Given the description of an element on the screen output the (x, y) to click on. 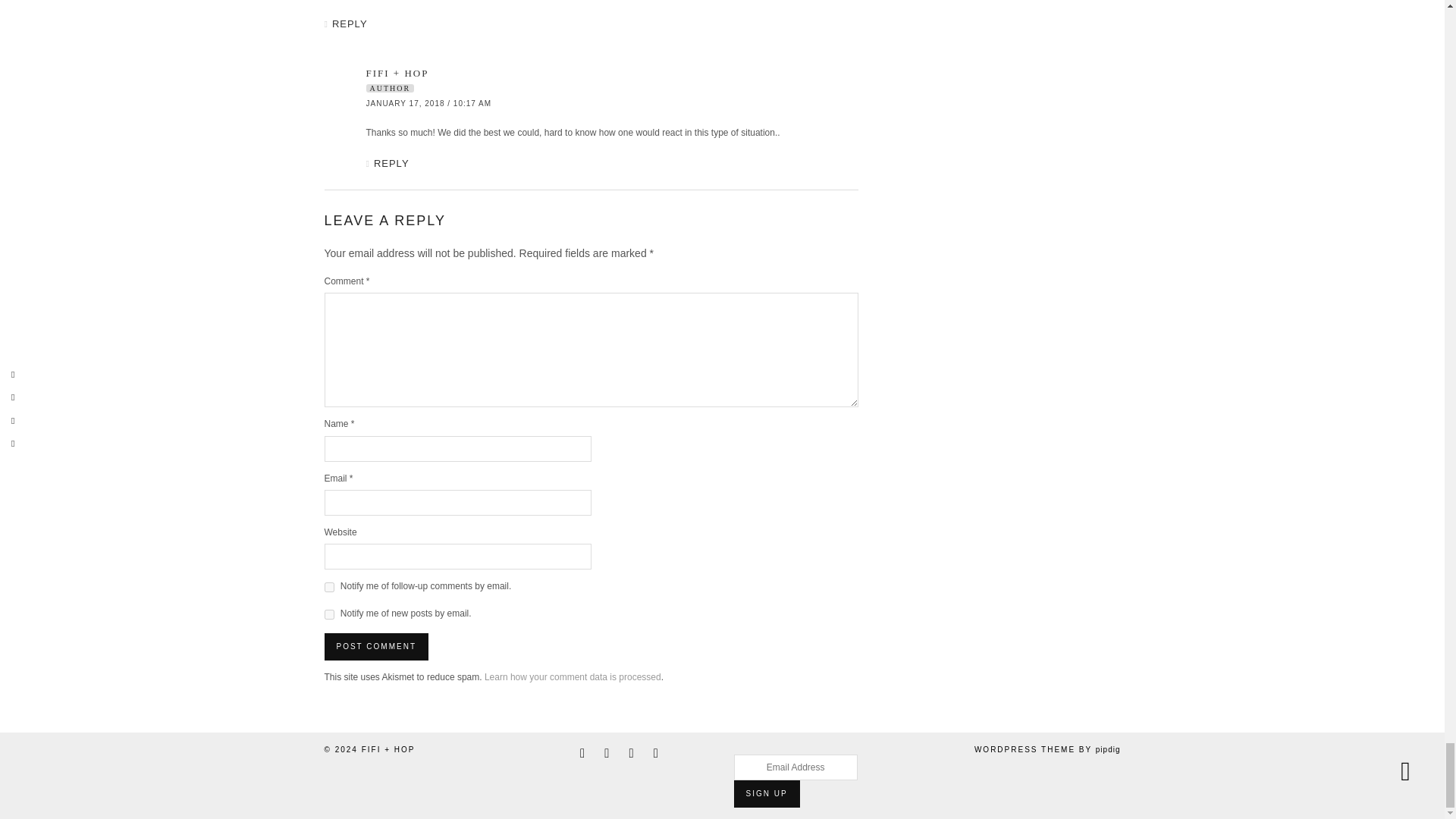
subscribe (329, 587)
Post Comment (376, 646)
subscribe (329, 614)
